Given the description of an element on the screen output the (x, y) to click on. 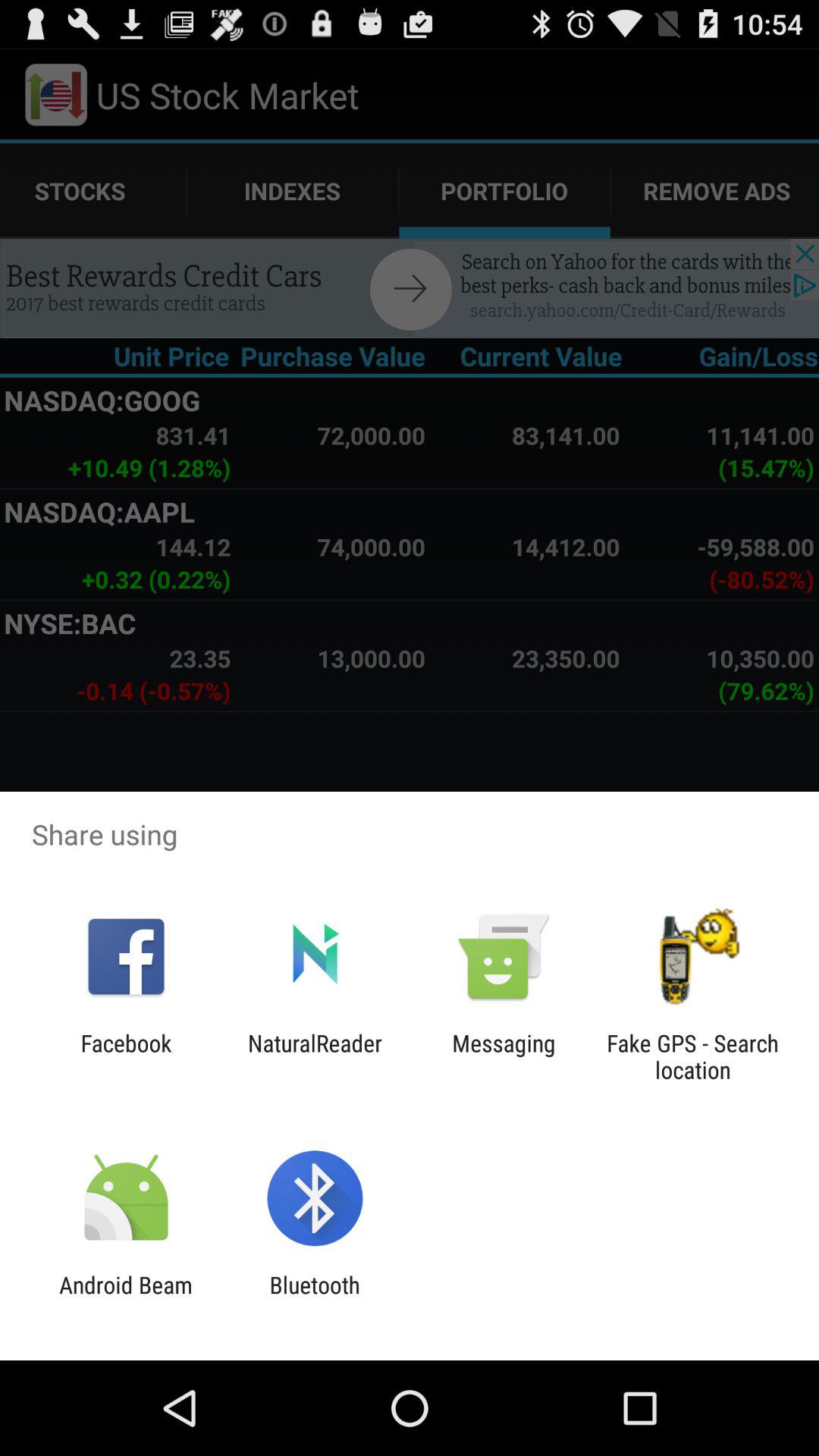
open the item to the right of naturalreader app (503, 1056)
